Given the description of an element on the screen output the (x, y) to click on. 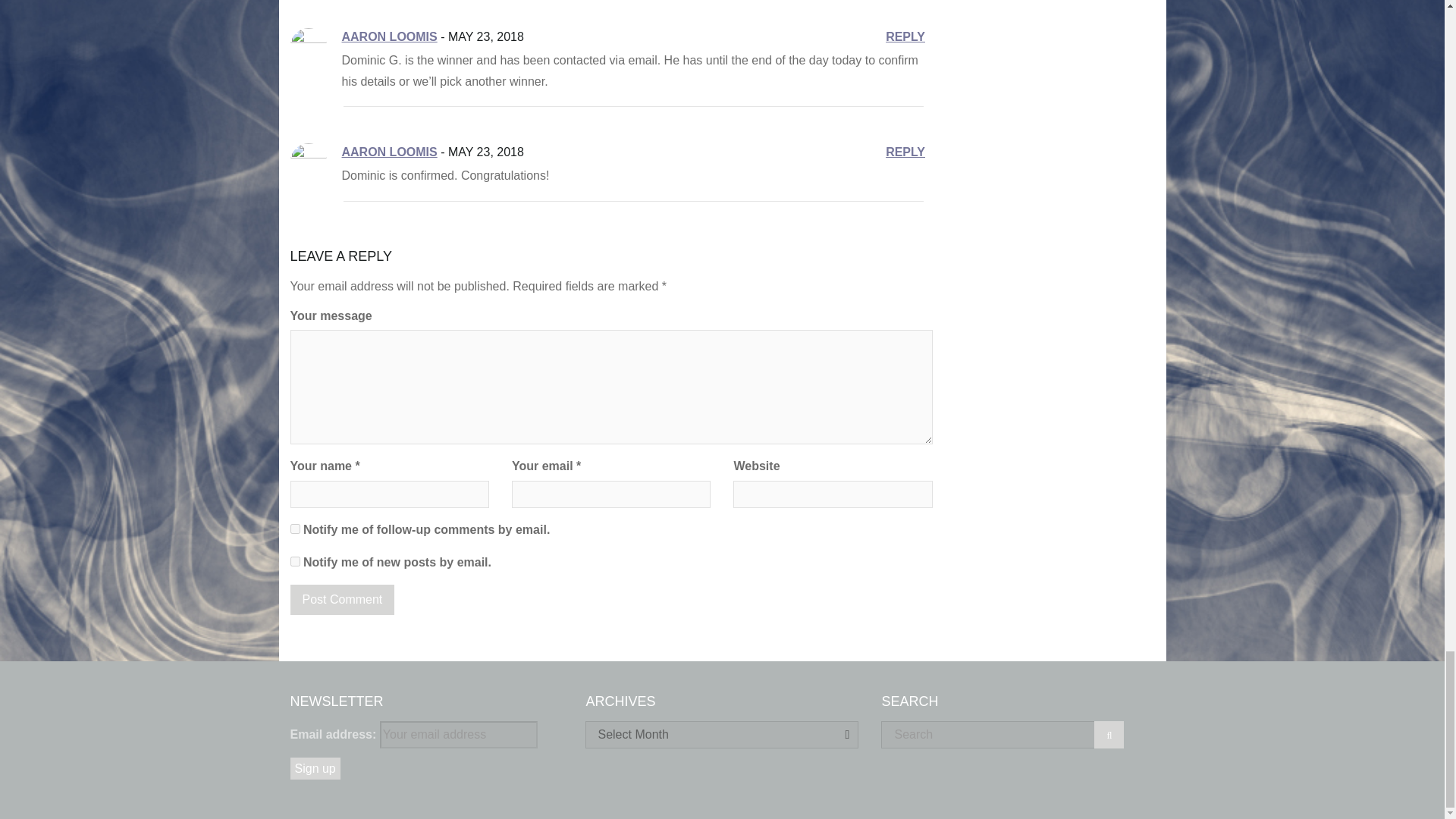
Post Comment (341, 599)
Sign up (314, 768)
subscribe (294, 528)
subscribe (294, 561)
